Given the description of an element on the screen output the (x, y) to click on. 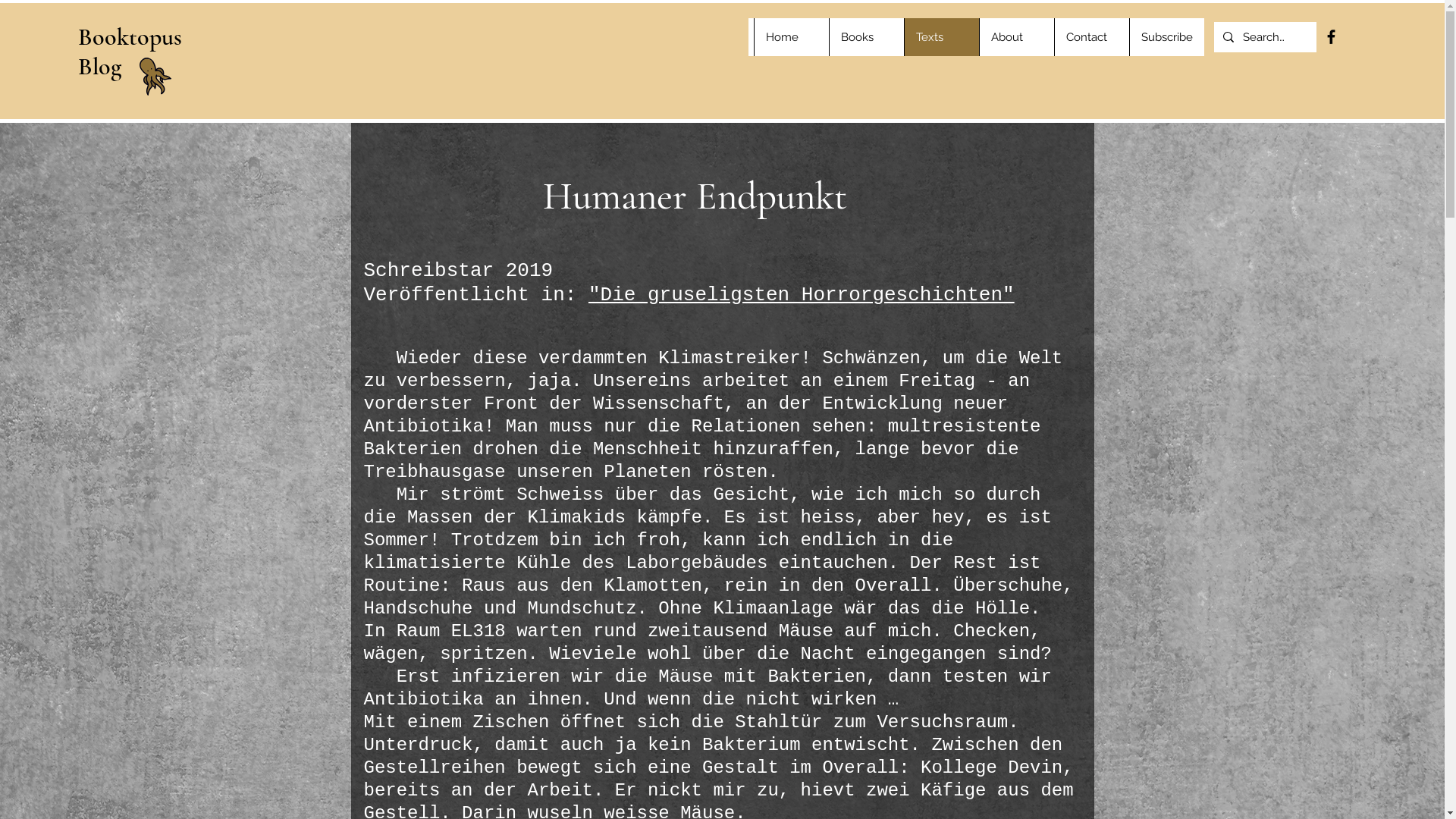
Home Element type: text (790, 37)
About Element type: text (1016, 37)
Subscribe Element type: text (1166, 37)
Booktopus Element type: text (130, 36)
"Die gruseligsten Horrorgeschichten" Element type: text (801, 294)
Books Element type: text (865, 37)
Contact Element type: text (1091, 37)
Texts Element type: text (941, 37)
